Given the description of an element on the screen output the (x, y) to click on. 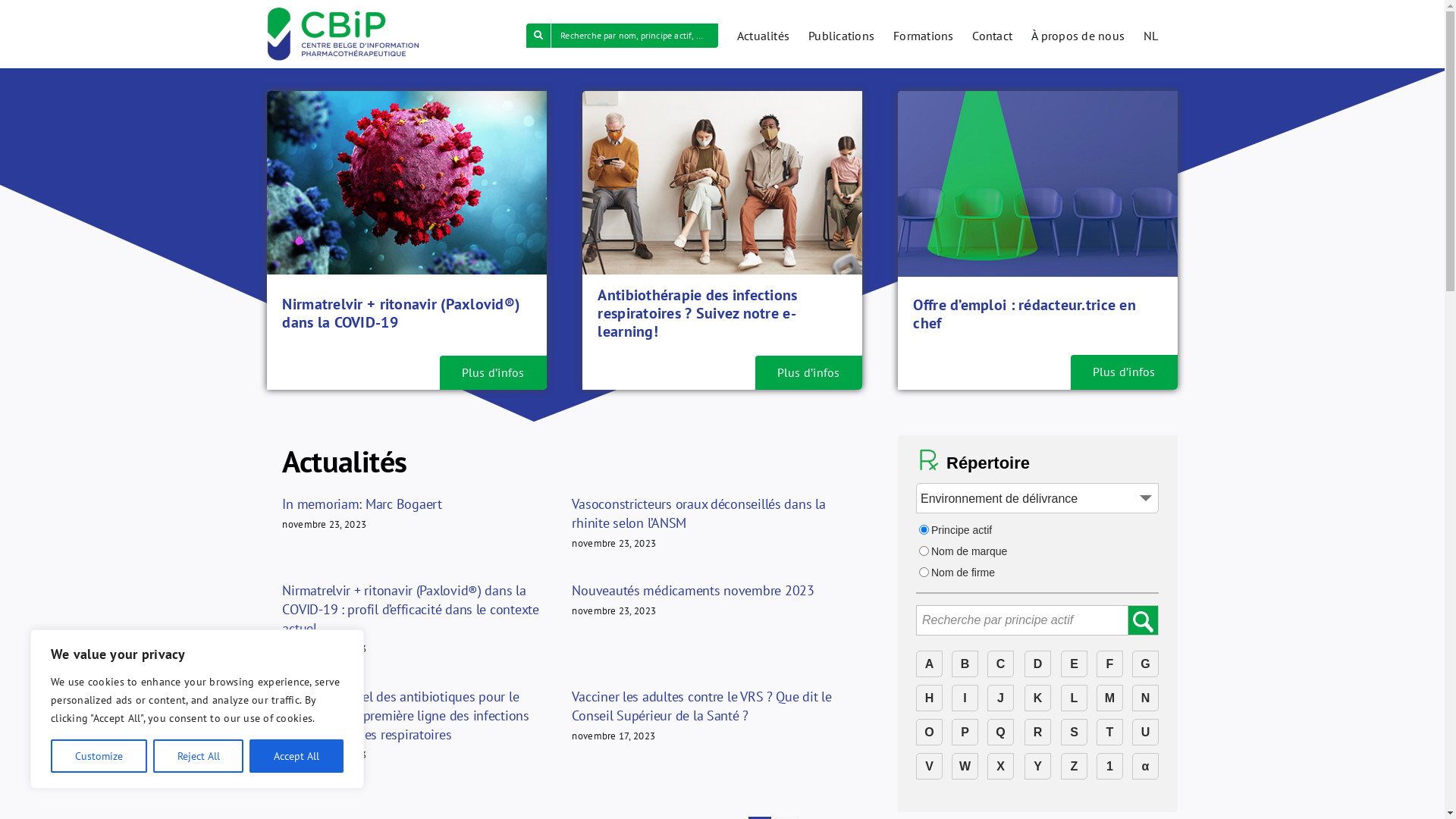
Accept All Element type: text (296, 755)
COVID Element type: hover (406, 182)
Contact Element type: text (992, 34)
NL Element type: text (1150, 34)
Customize Element type: text (98, 755)
Publications Element type: text (841, 34)
Recherche Element type: hover (1036, 620)
Reject All Element type: text (198, 755)
In memoriam: Marc Bogaert Element type: text (361, 503)
Formations Element type: text (923, 34)
vacature_homepage Element type: hover (1036, 183)
BAPCOC Element type: hover (721, 182)
